Given the description of an element on the screen output the (x, y) to click on. 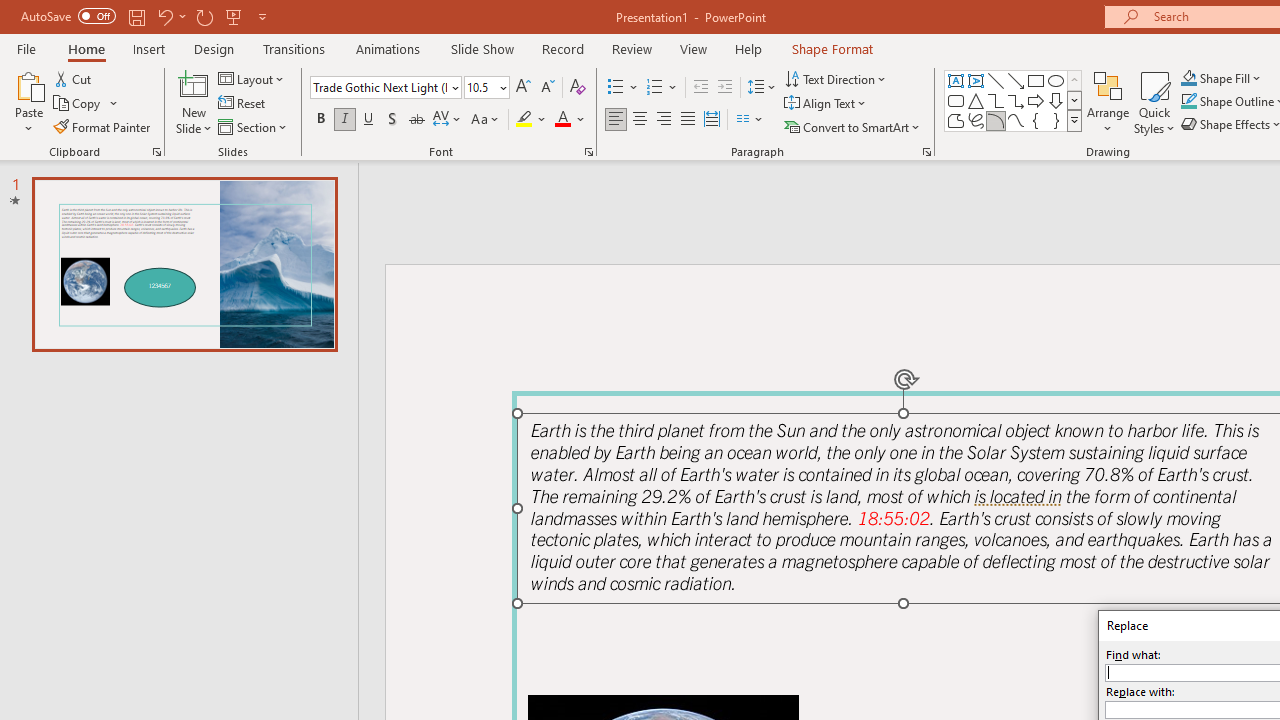
Shape Outline Teal, Accent 1 (1188, 101)
Shape Fill Aqua, Accent 2 (1188, 78)
